Given the description of an element on the screen output the (x, y) to click on. 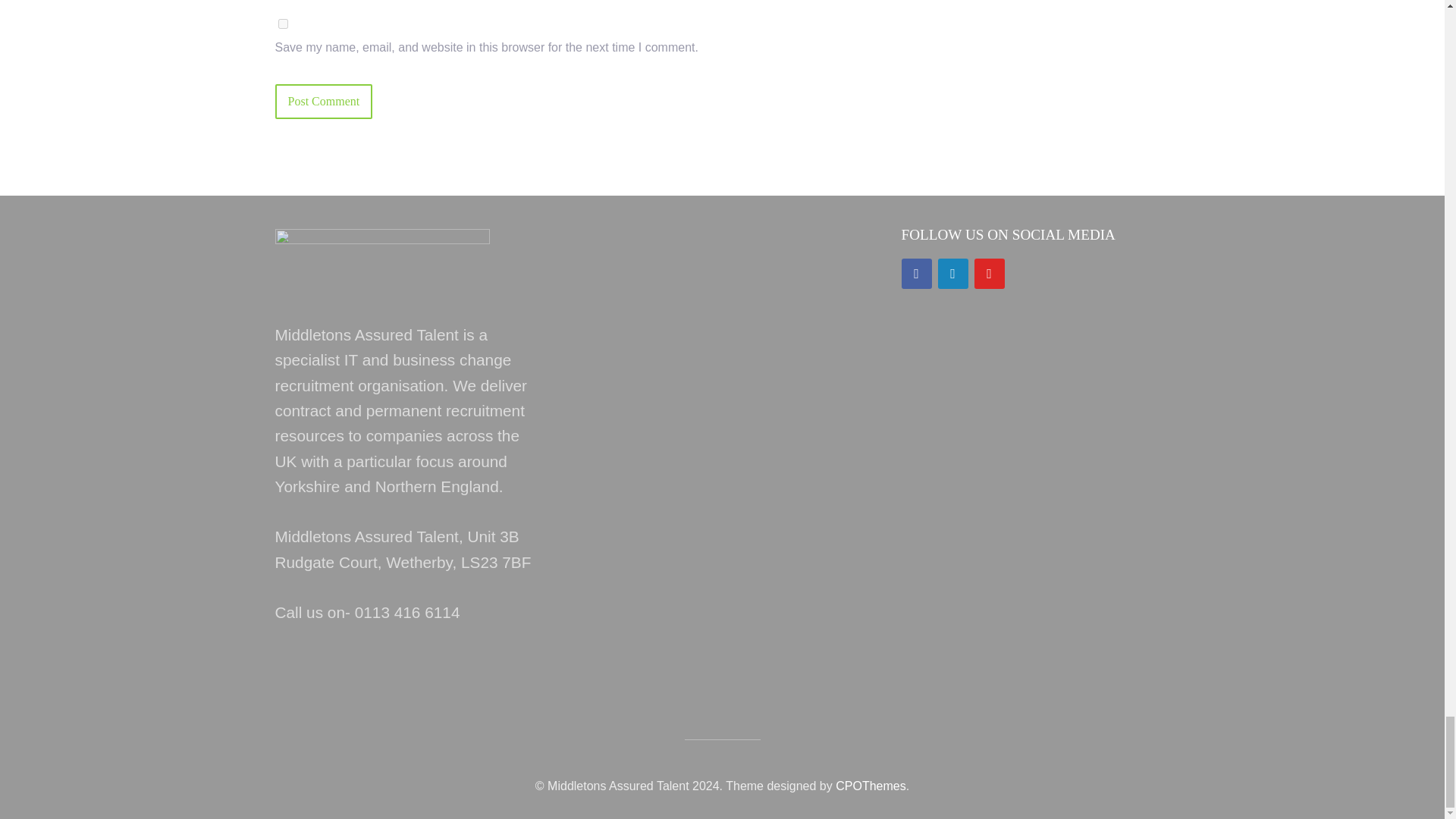
Post Comment (323, 101)
CPOThemes (870, 785)
Post Comment (323, 101)
Facebook (916, 273)
yes (282, 23)
YouTube (989, 273)
LinkedIn (952, 273)
